Given the description of an element on the screen output the (x, y) to click on. 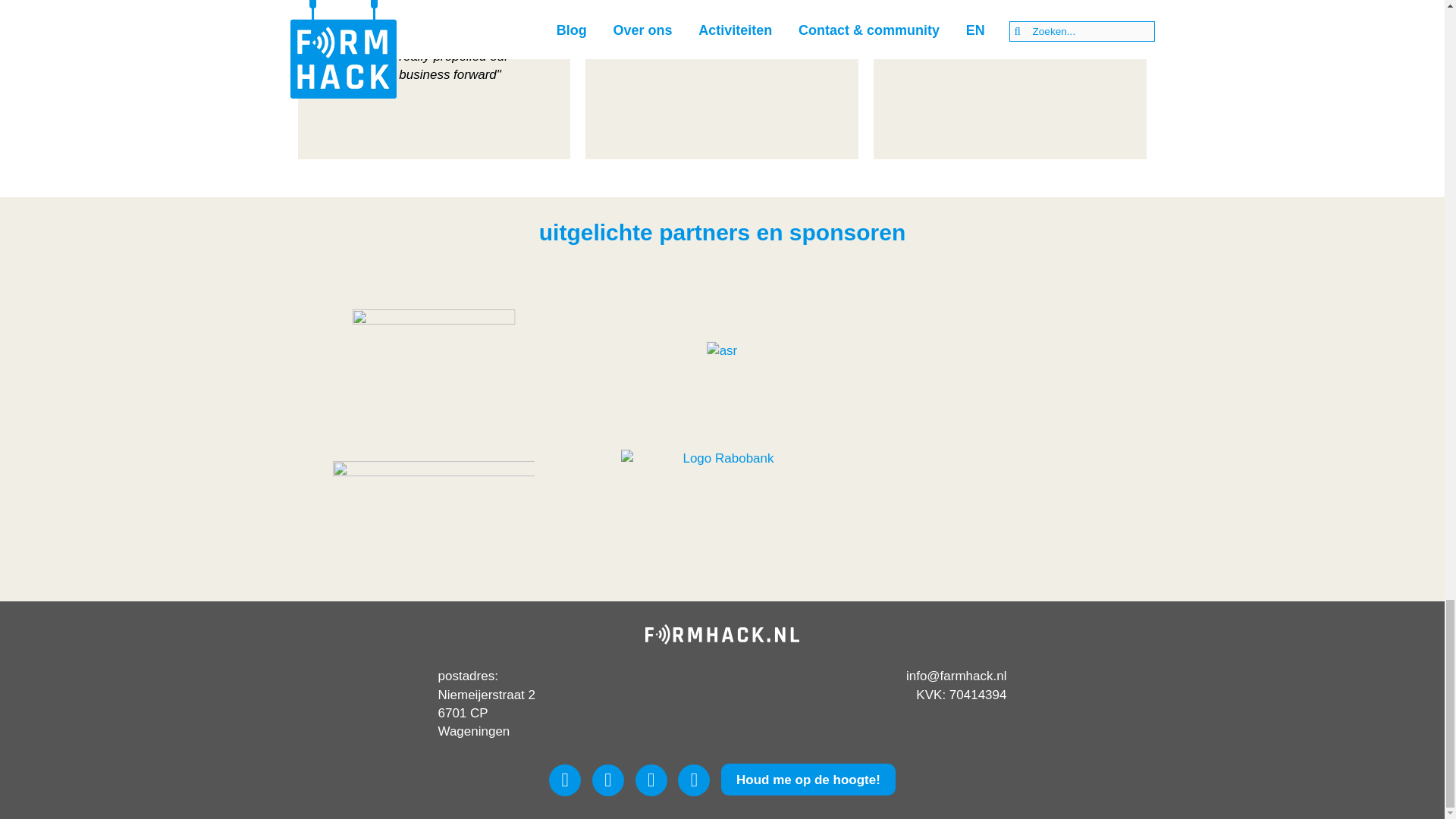
WUR (433, 351)
Rabobank (721, 502)
asr (722, 351)
Vitens (433, 502)
